Given the description of an element on the screen output the (x, y) to click on. 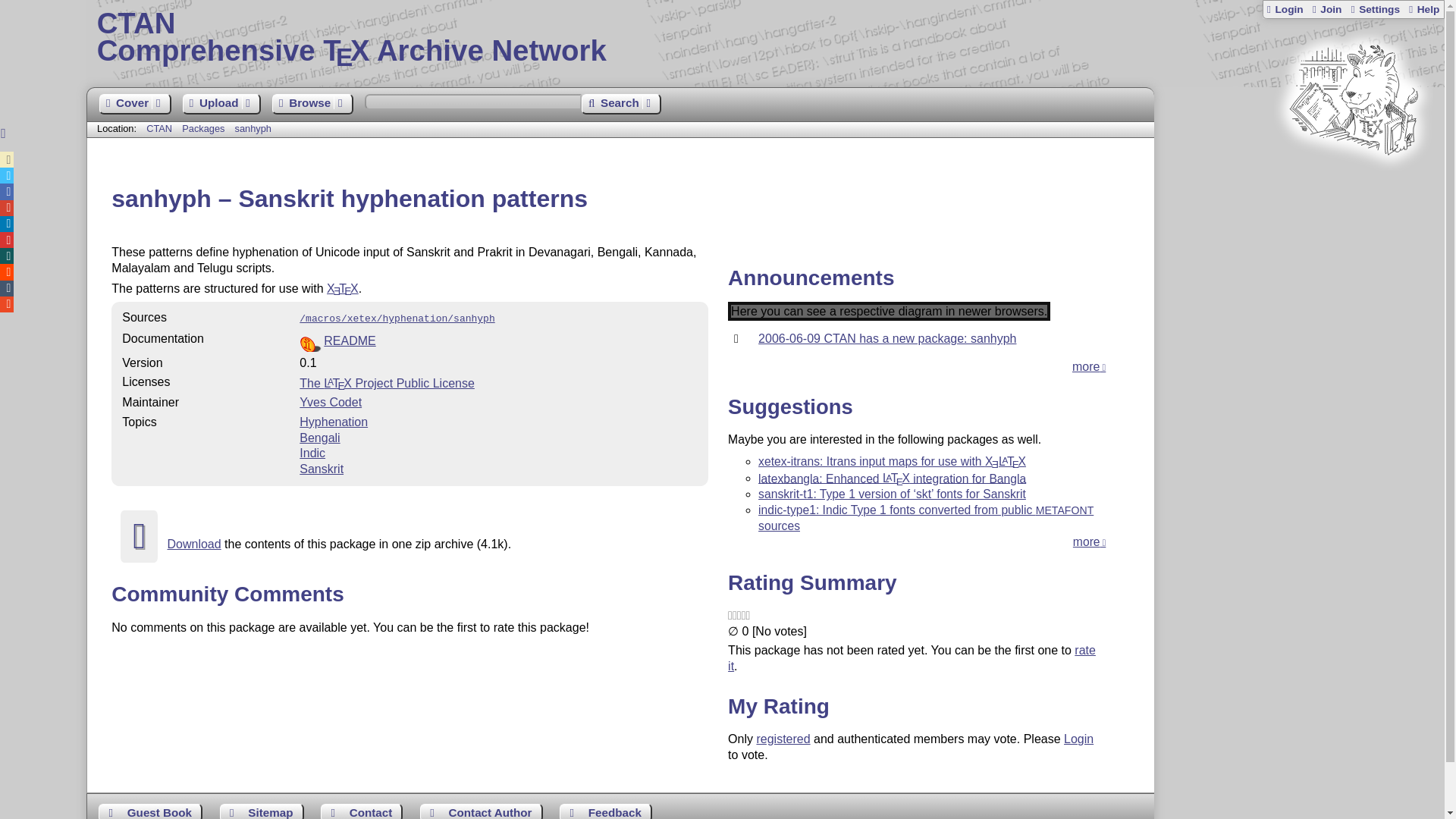
Upload (221, 104)
Adjust the appearance to your taste (1374, 8)
Register a new personal account on this site (1325, 8)
Leave some words for other visitors (150, 811)
Login with your personal account (1284, 8)
Cover (134, 104)
Packages (204, 128)
Search (620, 104)
Yves Codet (330, 401)
Indic (311, 452)
